Given the description of an element on the screen output the (x, y) to click on. 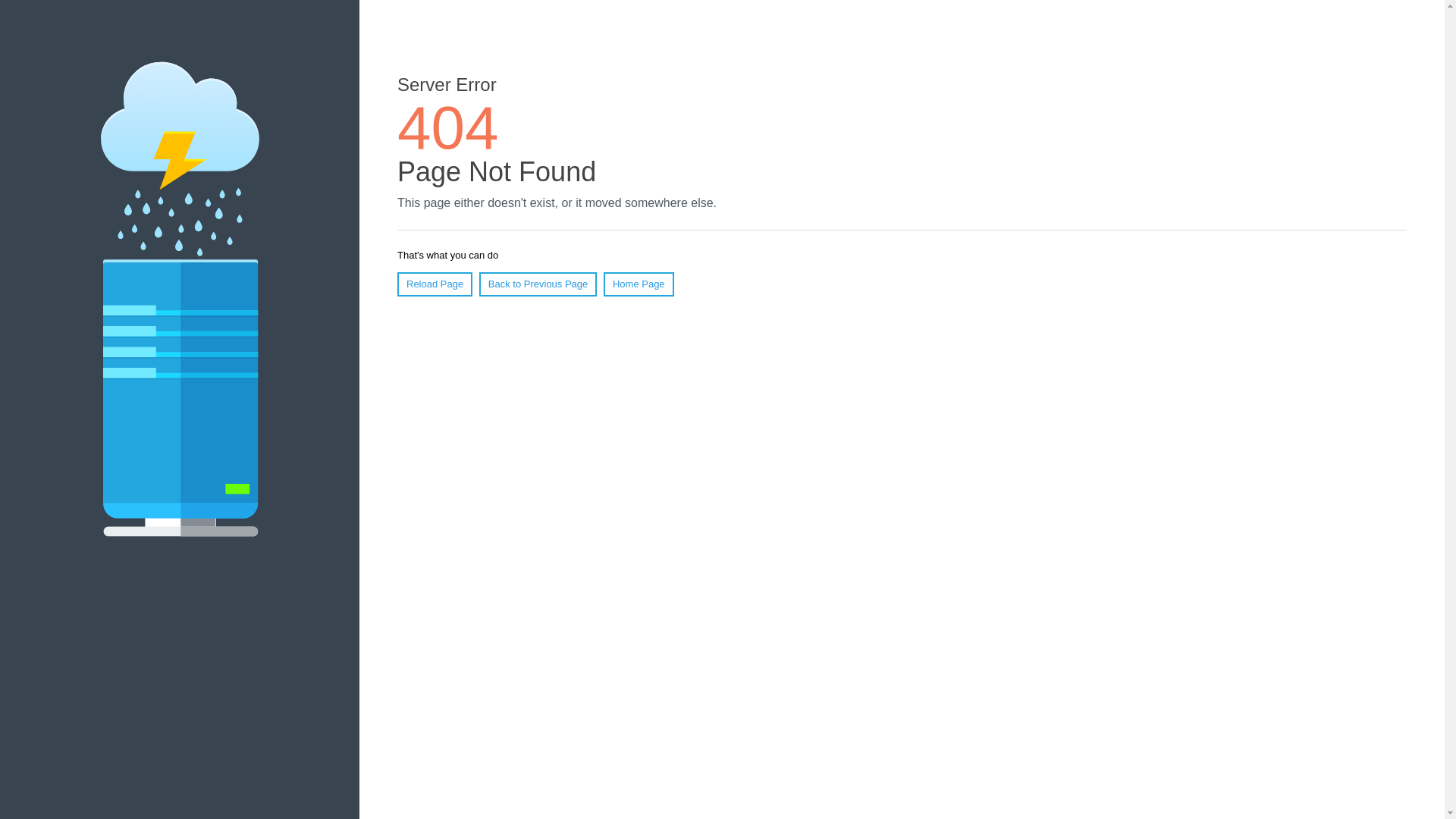
Back to Previous Page Element type: text (538, 284)
Reload Page Element type: text (434, 284)
Home Page Element type: text (638, 284)
